Given the description of an element on the screen output the (x, y) to click on. 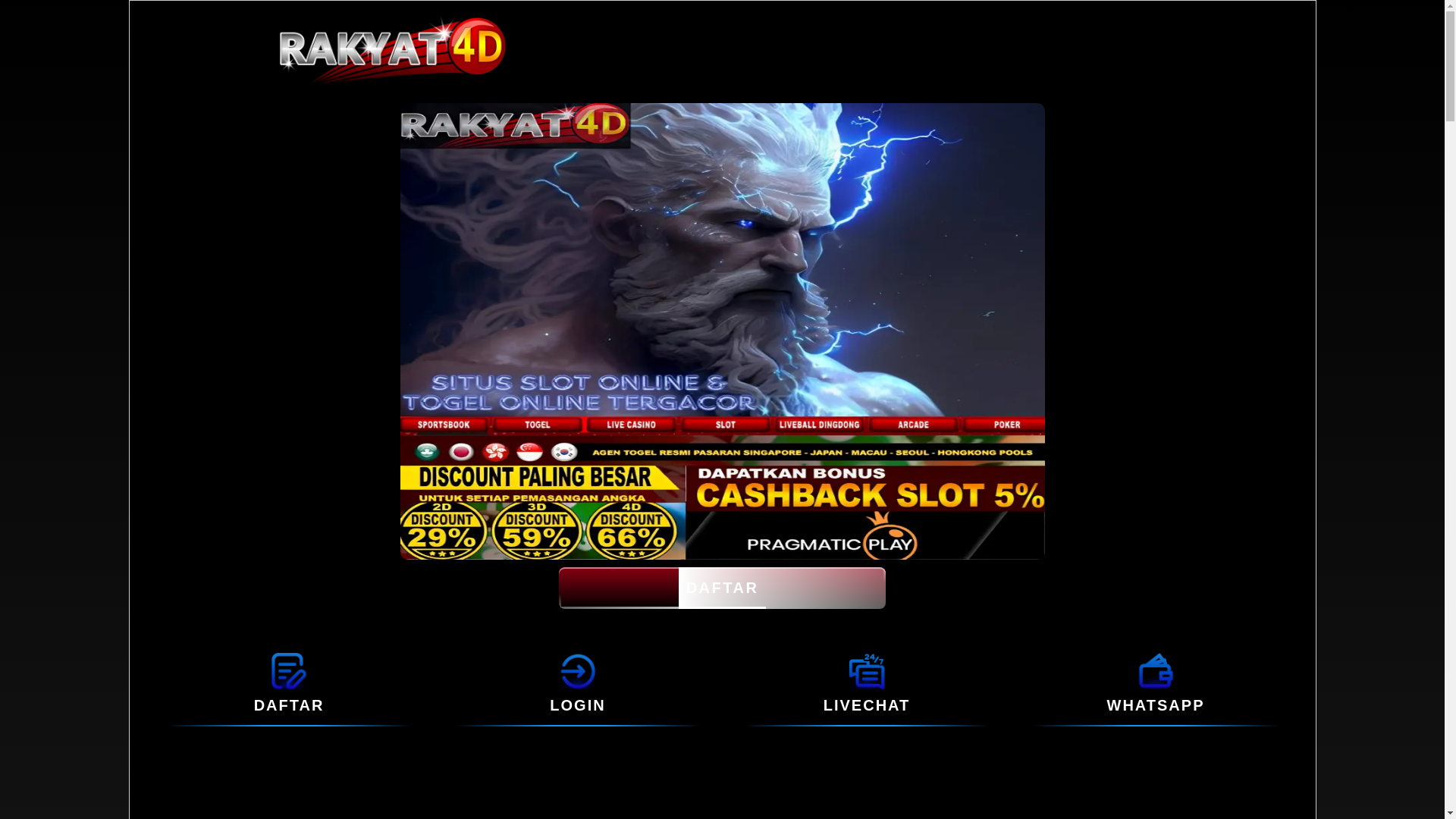
LIVECHAT (866, 670)
WHATSAPP (1155, 704)
DAFTAR (288, 704)
DAFTAR (722, 588)
WHATSAPP (1155, 670)
LIVECHAT (867, 704)
DAFTAR (288, 670)
LOGIN (577, 670)
LOGIN (577, 704)
